Given the description of an element on the screen output the (x, y) to click on. 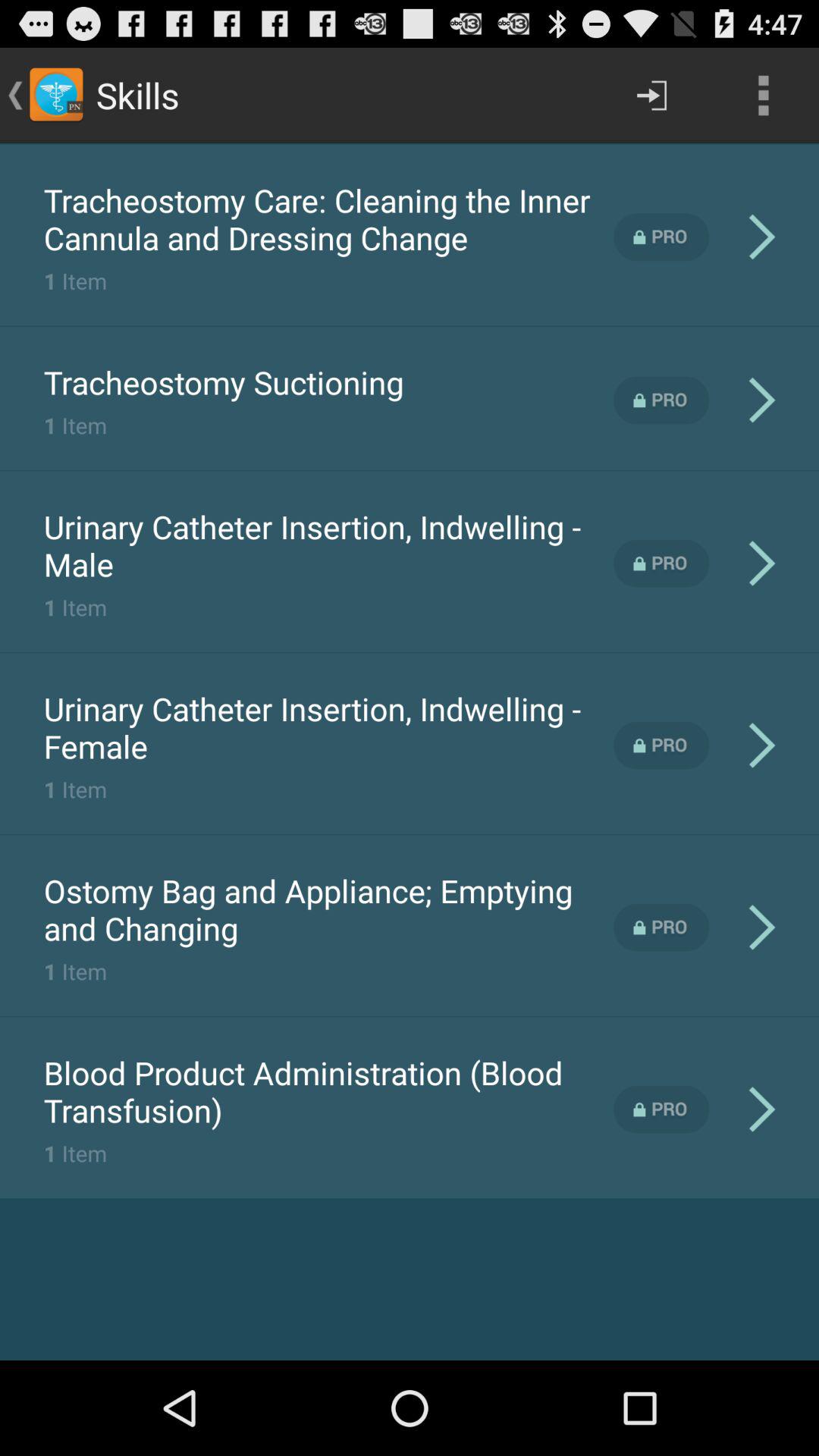
select the item to the right of the skills (651, 95)
